Given the description of an element on the screen output the (x, y) to click on. 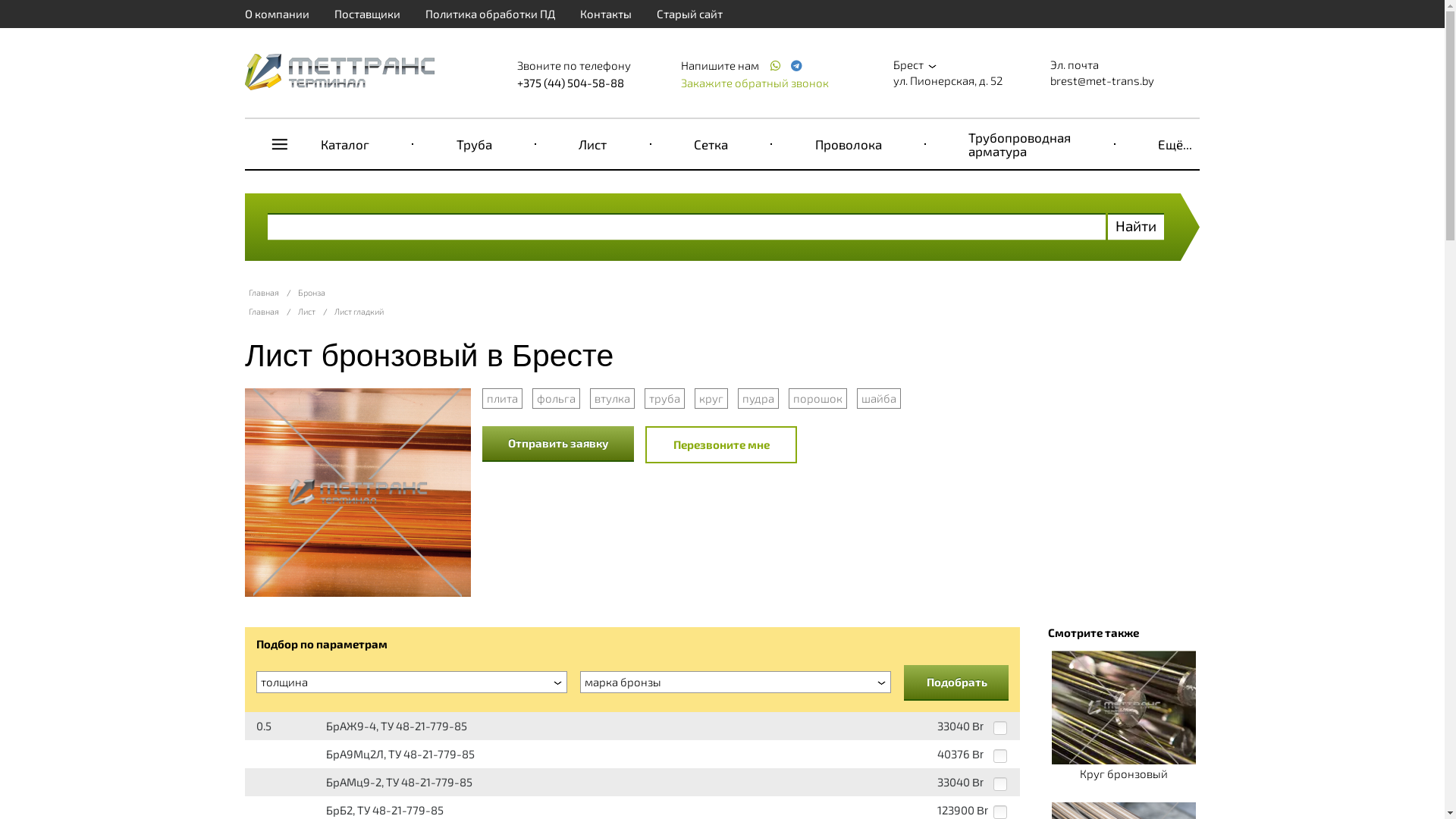
brest@met-trans.by Element type: text (1102, 80)
